Given the description of an element on the screen output the (x, y) to click on. 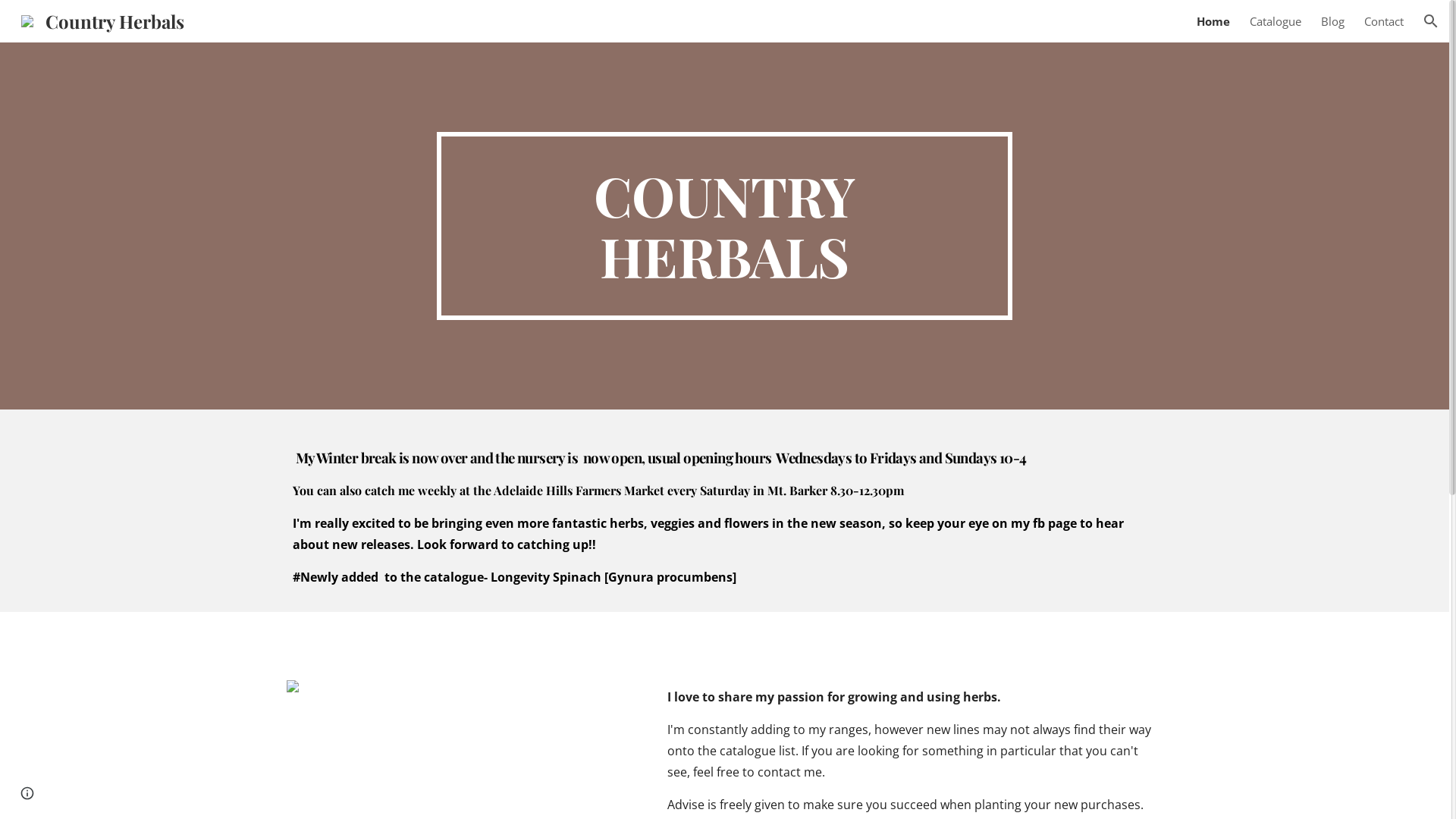
Contact Element type: text (1383, 20)
Country Herbals Element type: text (102, 18)
Home Element type: text (1213, 20)
Catalogue Element type: text (1275, 20)
Blog Element type: text (1332, 20)
